Given the description of an element on the screen output the (x, y) to click on. 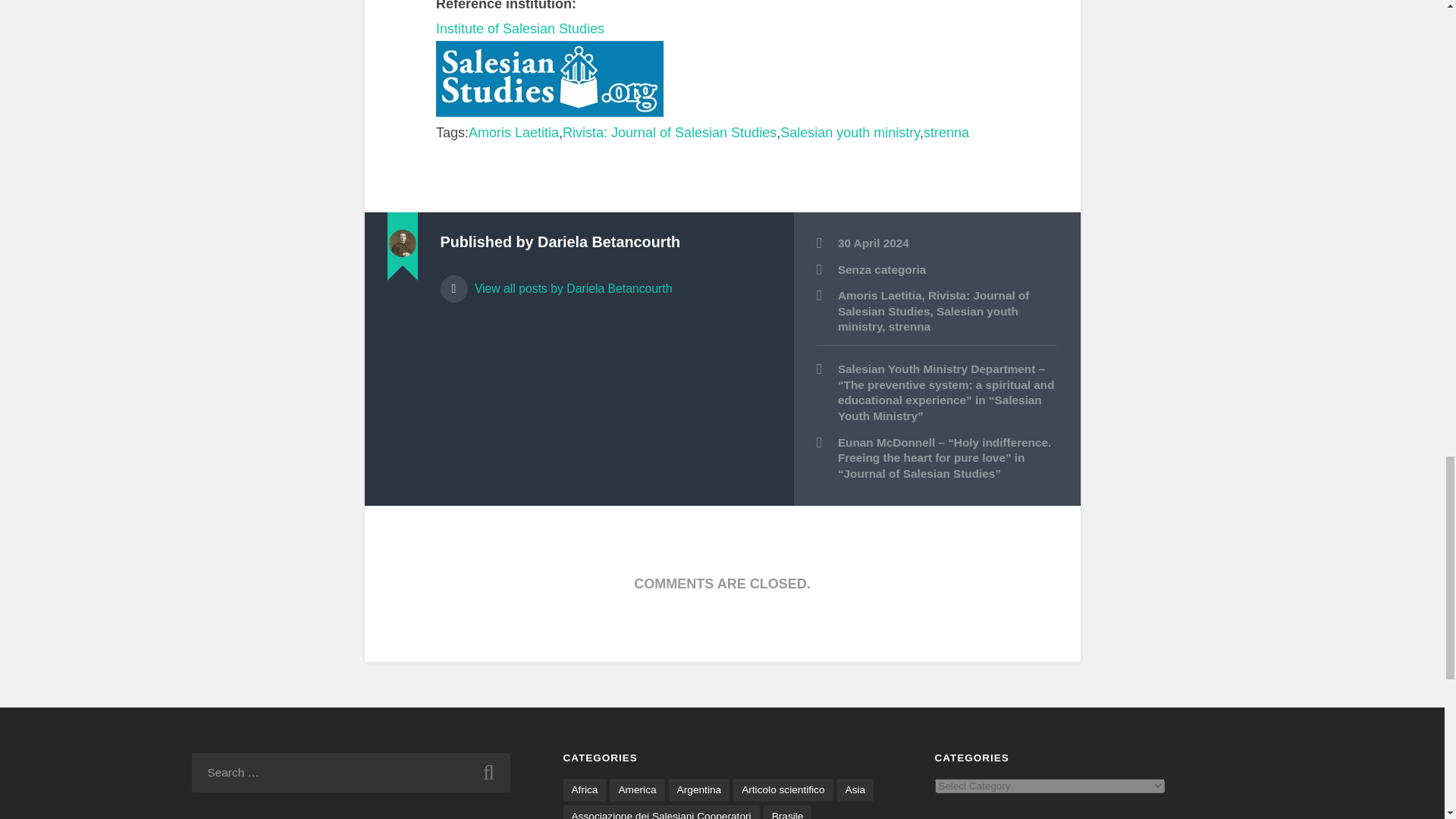
strenna (946, 132)
Amoris Laetitia (513, 132)
Salesian youth ministry (850, 132)
Search (488, 772)
Rivista: Journal of Salesian Studies (669, 132)
Search (488, 772)
